Given the description of an element on the screen output the (x, y) to click on. 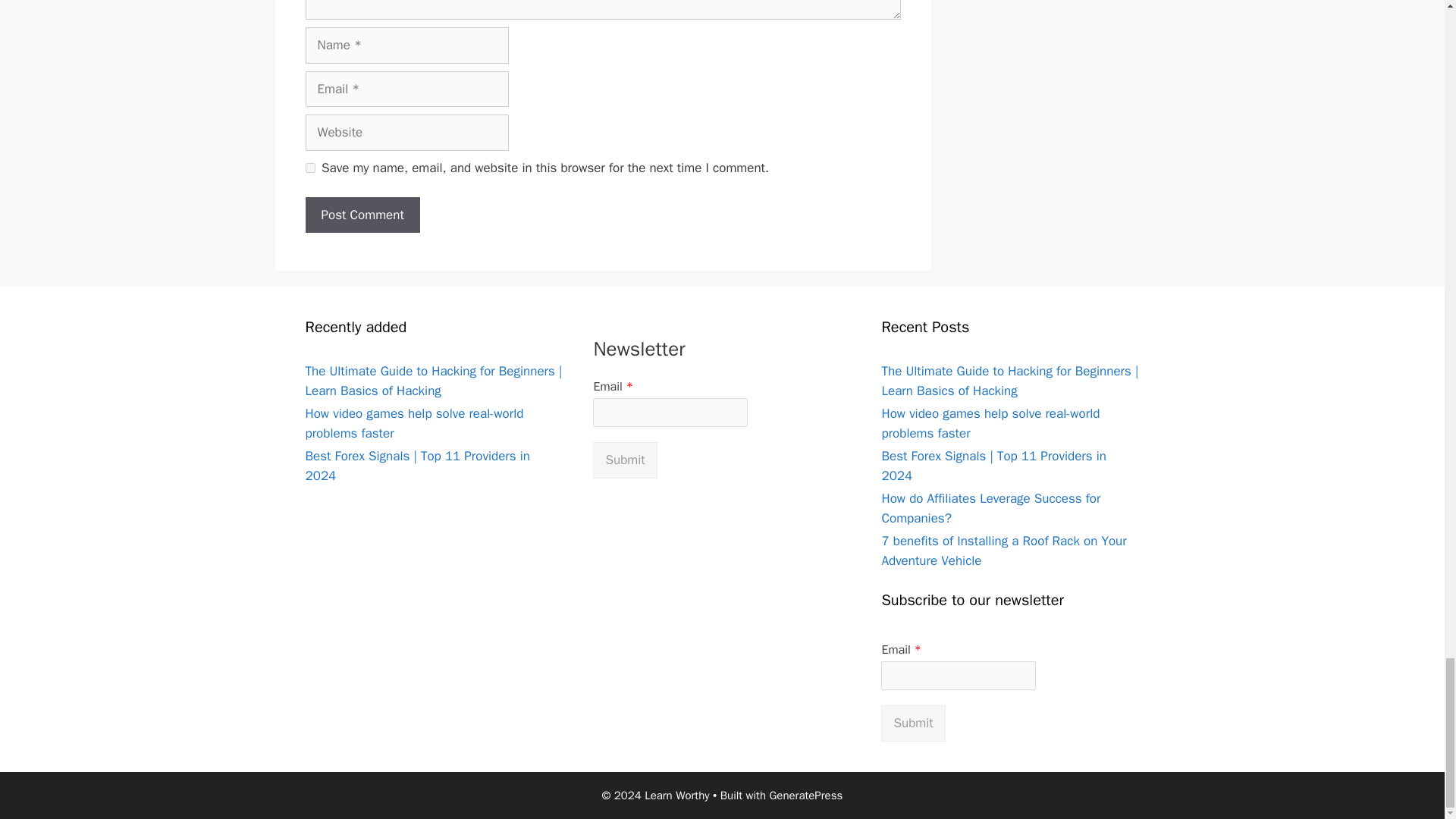
How video games help solve real-world problems faster (989, 423)
Submit (624, 460)
How video games help solve real-world problems faster (413, 423)
yes (309, 167)
How do Affiliates Leverage Success for Companies? (990, 508)
Post Comment (361, 215)
Post Comment (361, 215)
